Given the description of an element on the screen output the (x, y) to click on. 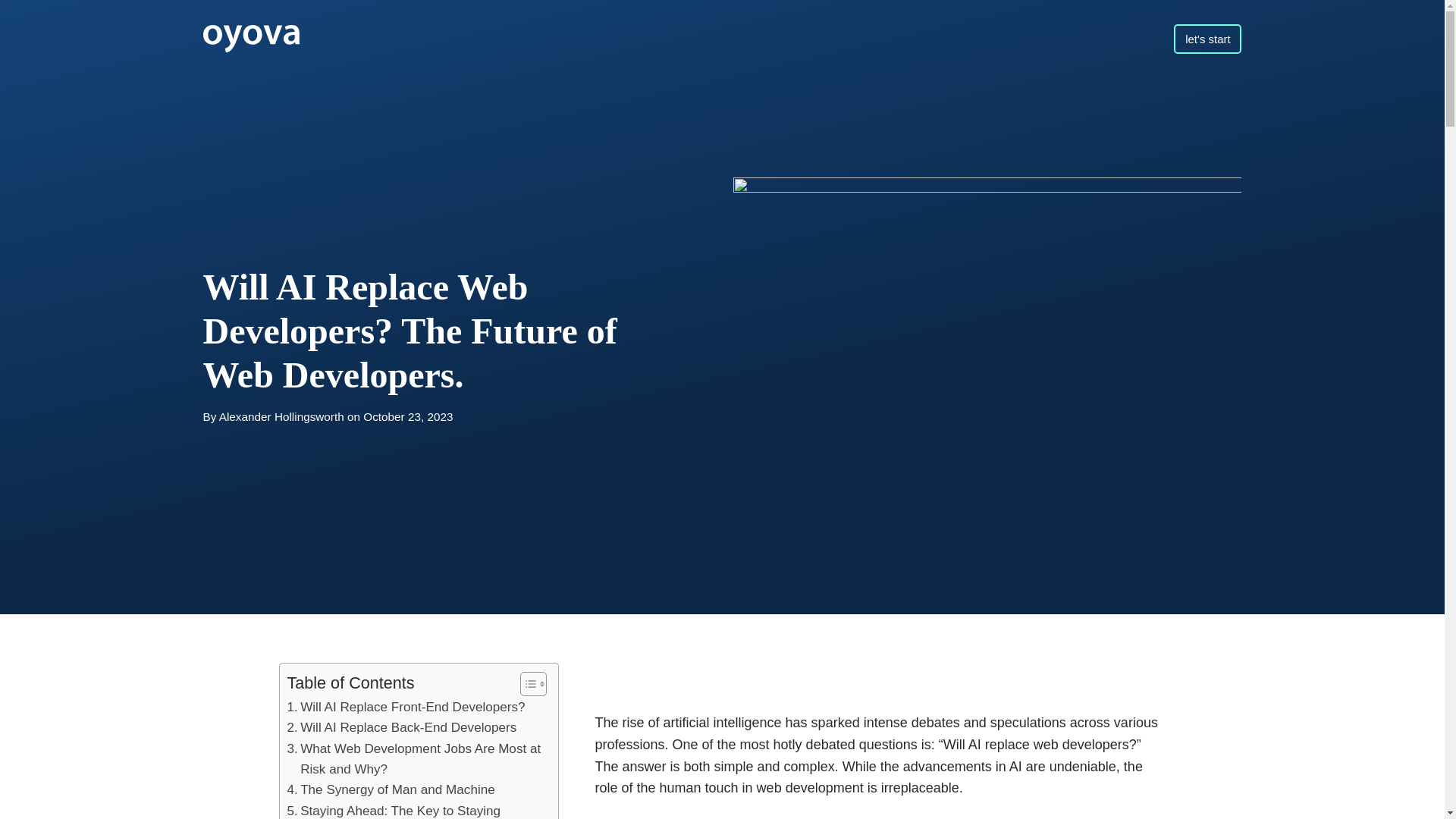
The Synergy of Man and Machine (390, 789)
Will AI Replace Back-End Developers (401, 727)
Posts by Alexander Hollingsworth (281, 416)
Staying Ahead: The Key to Staying Relevant (414, 809)
Will AI Replace Front-End Developers? (405, 706)
What Web Development Jobs Are Most at Risk and Why? (414, 759)
